Given the description of an element on the screen output the (x, y) to click on. 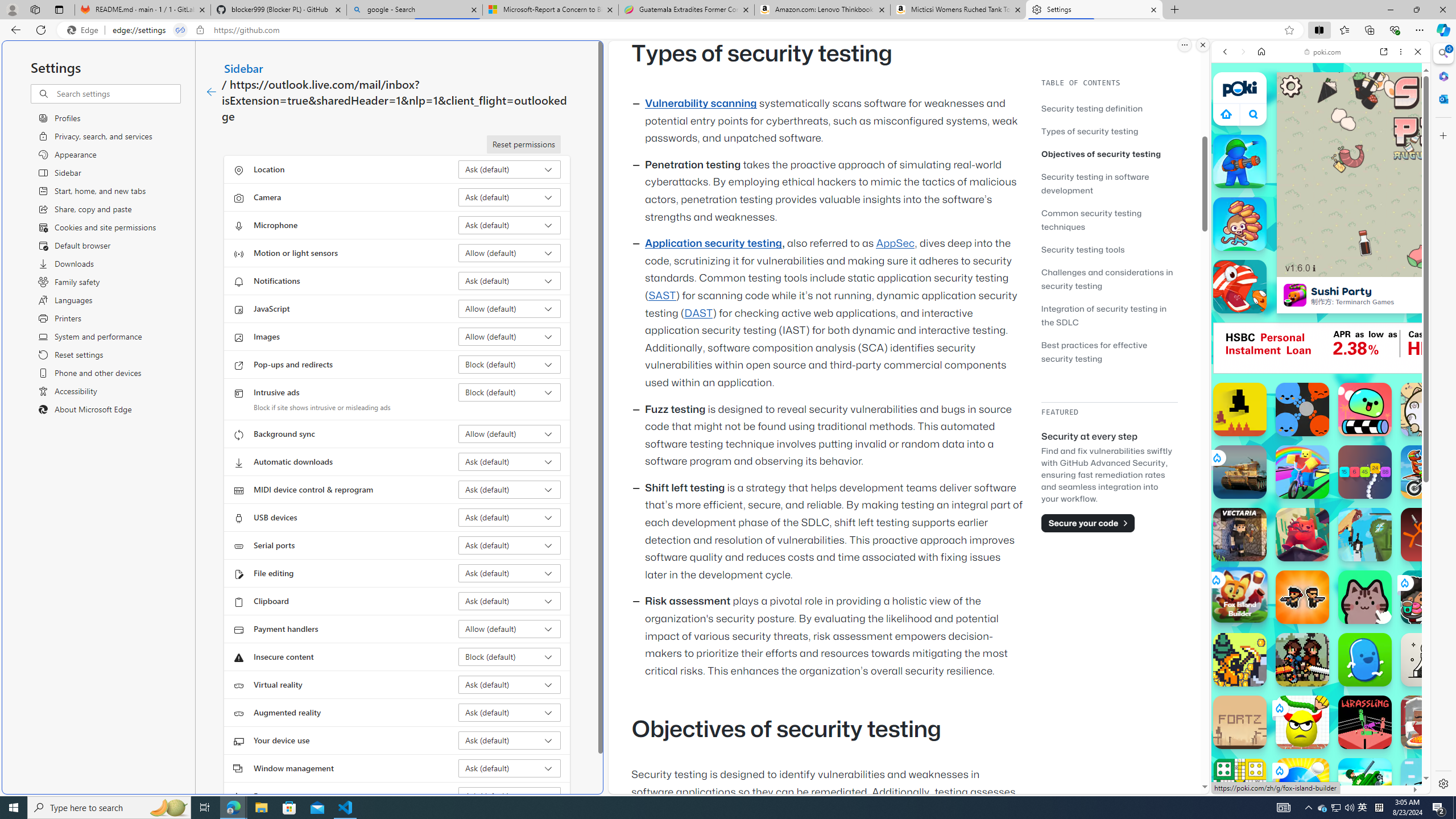
Combat Reloaded (1349, 580)
Vectaria.io Vectaria.io (1239, 534)
Sports Games (1320, 378)
Two Player Games (1320, 323)
Combat Reloaded (1348, 574)
Ludo Multiplayer (1239, 784)
Virtual reality Ask (default) (509, 684)
Fox Island Builder (1239, 594)
